Given the description of an element on the screen output the (x, y) to click on. 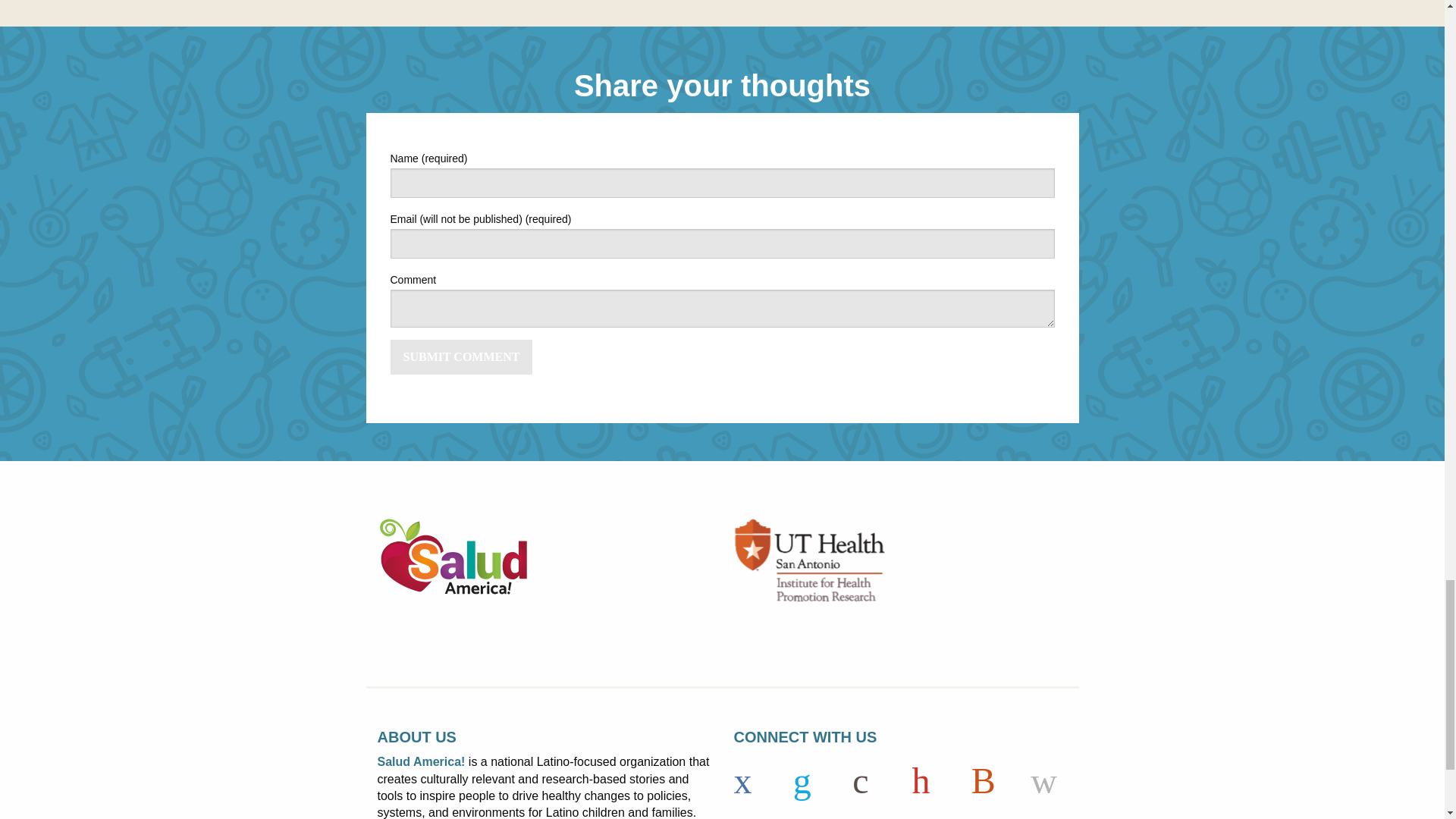
Submit Comment (461, 356)
